Given the description of an element on the screen output the (x, y) to click on. 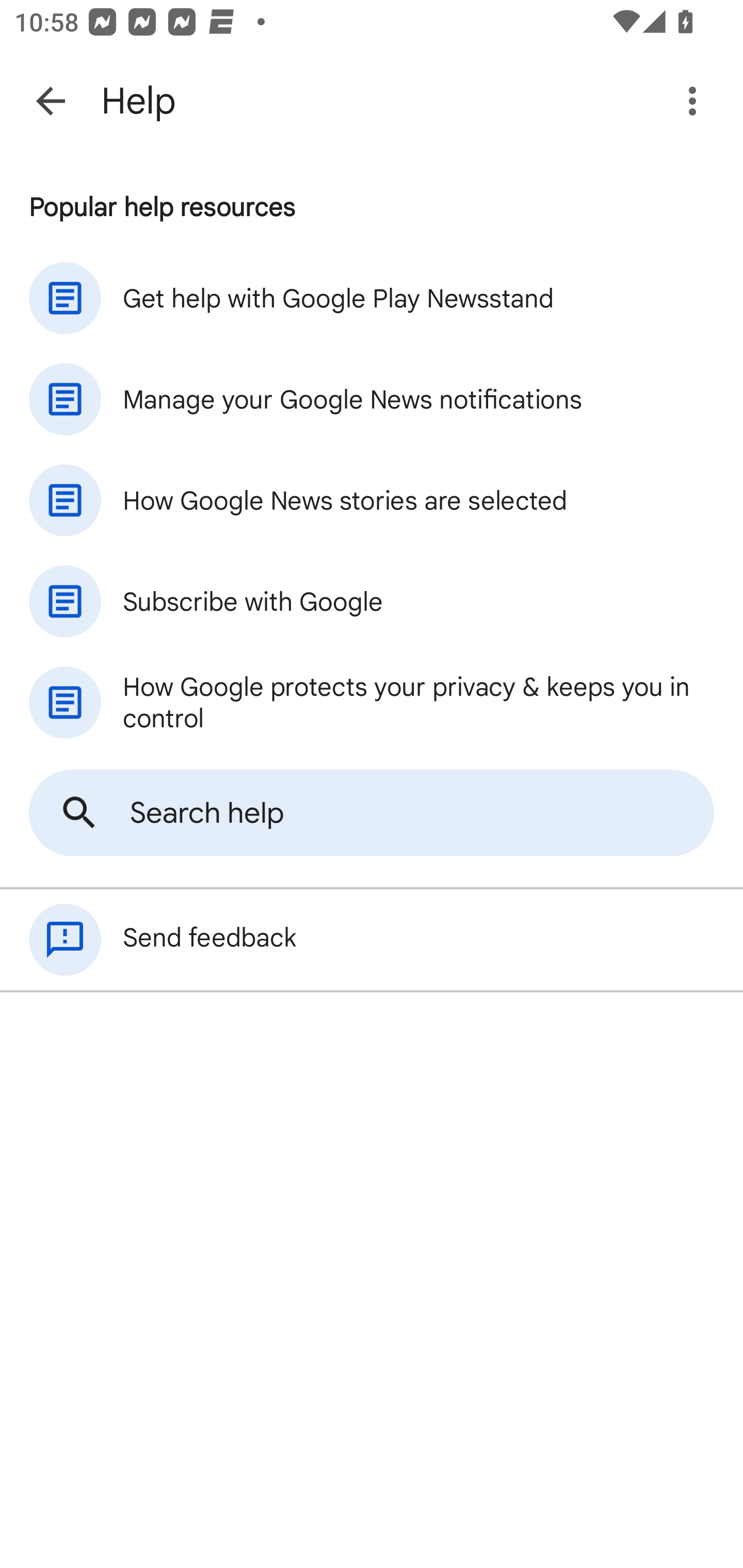
Navigate up (50, 101)
More options (696, 101)
Get help with Google Play Newsstand (371, 297)
Manage your Google News notifications (371, 399)
How Google News stories are selected (371, 500)
Subscribe with Google (371, 601)
Search help (371, 812)
Send feedback (371, 939)
